Given the description of an element on the screen output the (x, y) to click on. 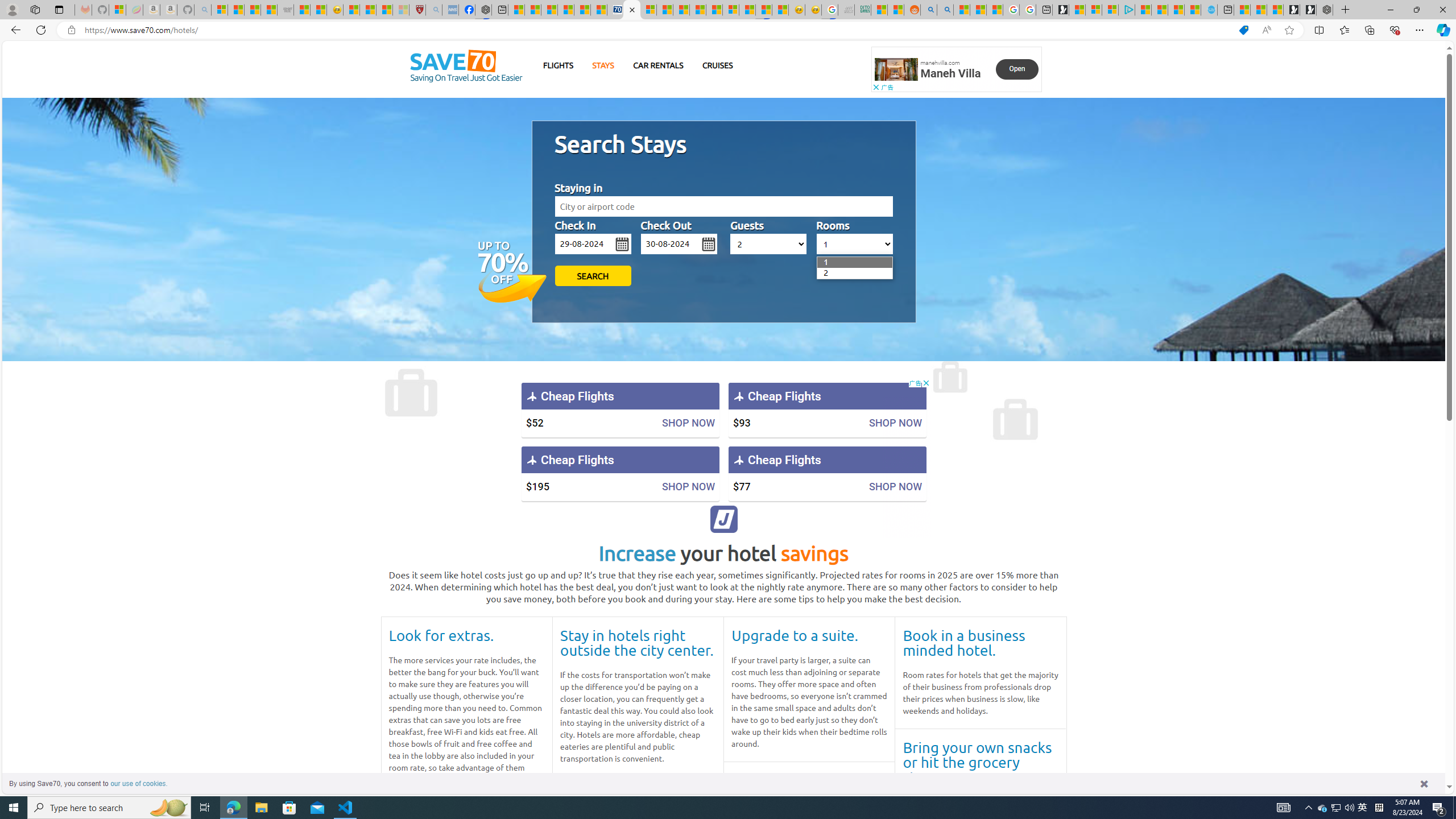
Class: ns-aianb-e-47 svg-anchor (724, 519)
Utah sues federal government - Search (944, 9)
Cheap Flights $93 SHOP NOW (827, 409)
AutomationID: cbb (925, 382)
2 (822, 272)
City or airport code (723, 206)
